Given the description of an element on the screen output the (x, y) to click on. 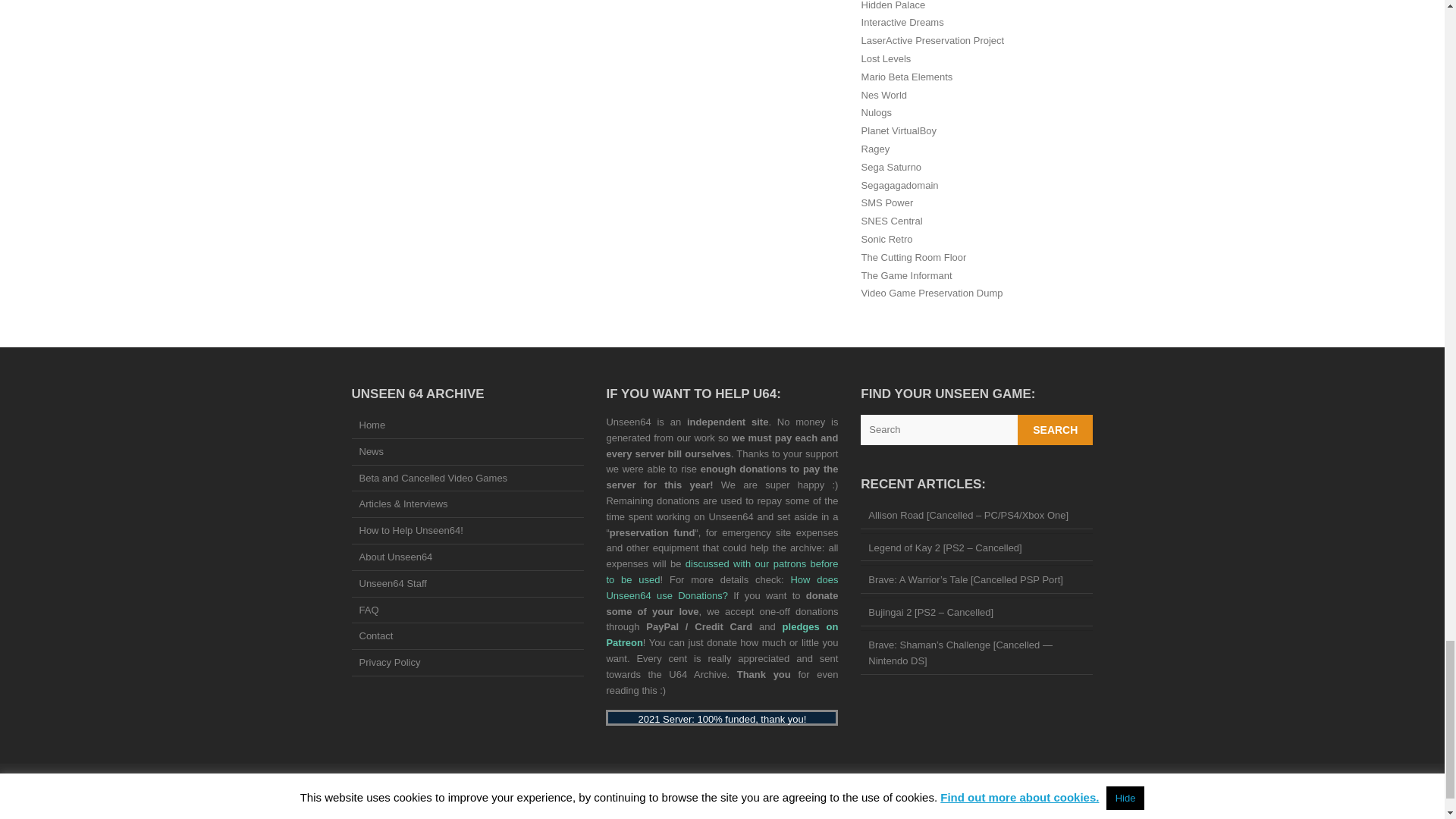
Search (1055, 429)
Search (1055, 429)
